Given the description of an element on the screen output the (x, y) to click on. 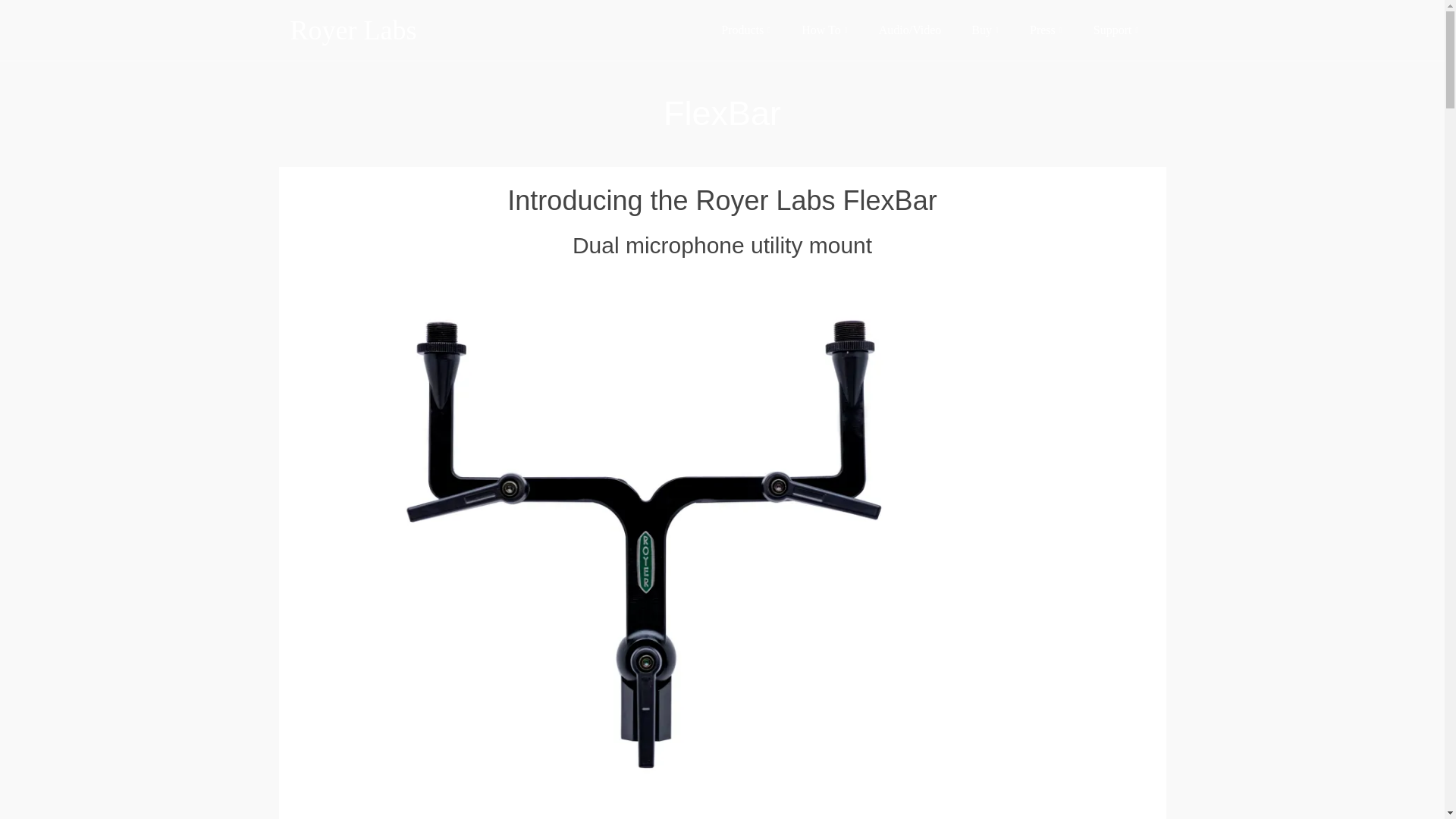
Press (1046, 30)
Royer Labs (425, 30)
Buy (985, 30)
How To (824, 30)
Products (746, 30)
